Given the description of an element on the screen output the (x, y) to click on. 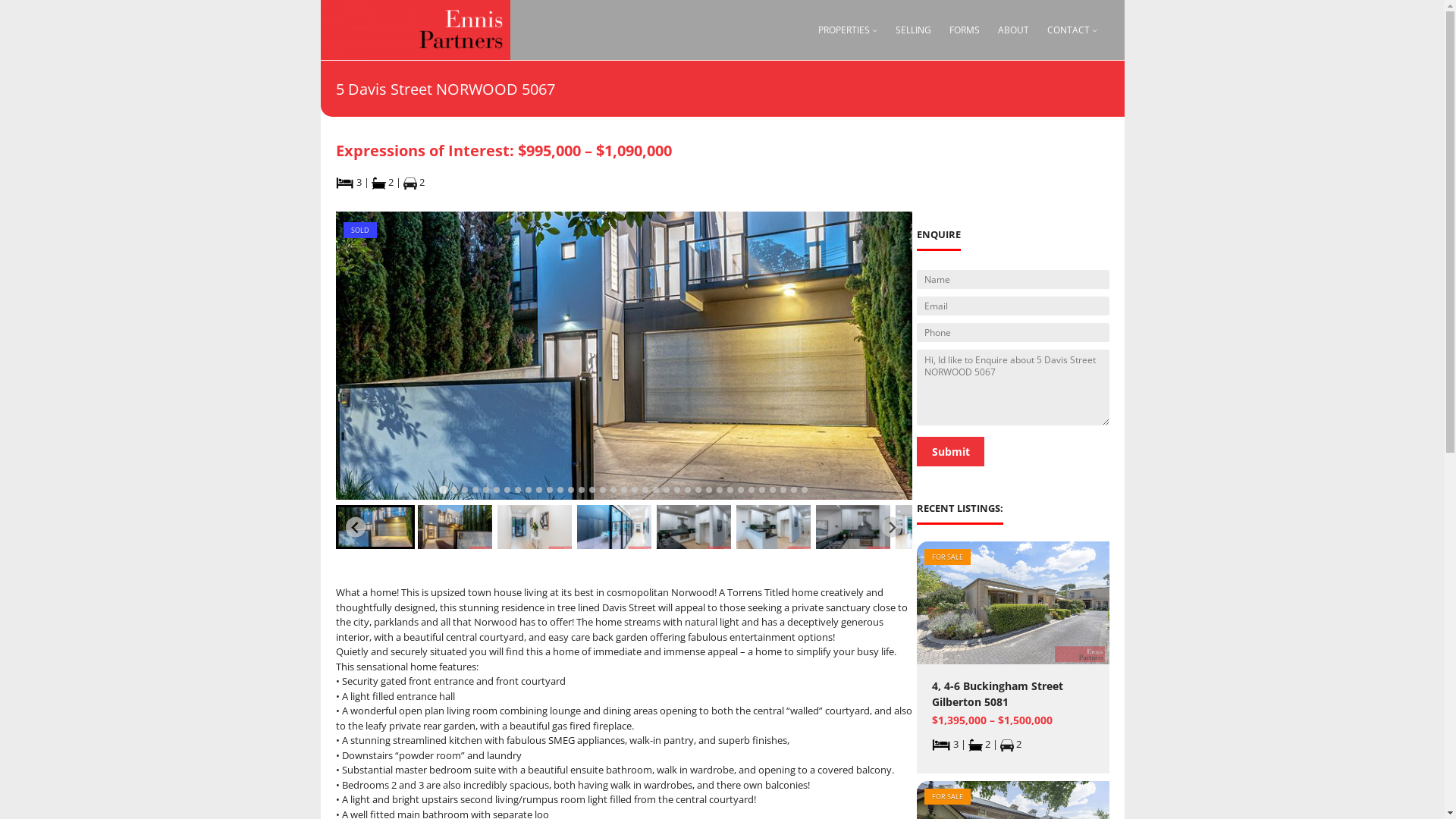
FORMS Element type: text (964, 29)
PROPERTIES Element type: text (843, 29)
CONTACT Element type: text (1068, 29)
SELLING Element type: text (913, 29)
Submit Element type: text (950, 451)
4, 4-6 Buckingham Street Gilberton 5081 Element type: text (1012, 693)
ABOUT Element type: text (1013, 29)
